Given the description of an element on the screen output the (x, y) to click on. 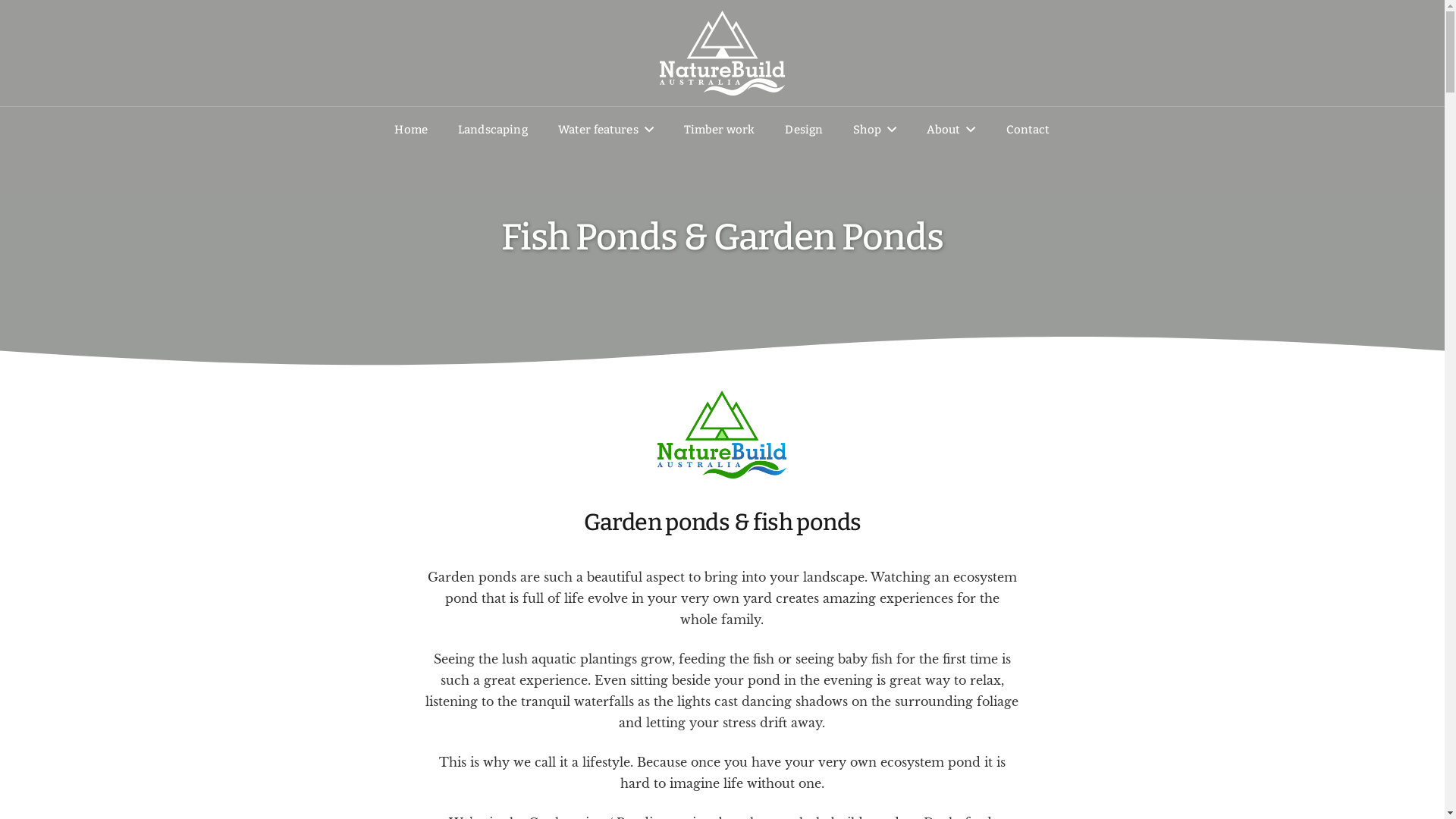
Landscaping Element type: text (492, 129)
Design Element type: text (803, 129)
Water features Element type: text (605, 129)
Shop Element type: text (874, 129)
Contact Element type: text (1028, 129)
About Element type: text (951, 129)
Home Element type: text (410, 129)
Timber work Element type: text (719, 129)
